Given the description of an element on the screen output the (x, y) to click on. 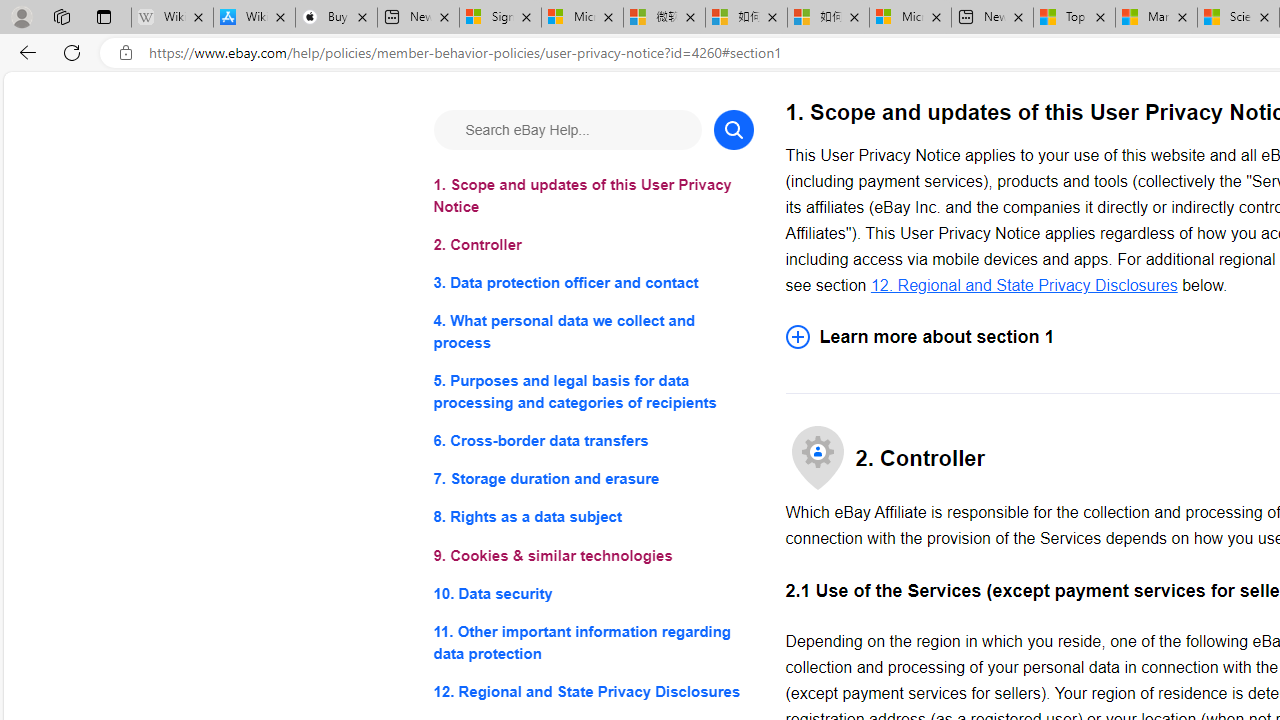
3. Data protection officer and contact (592, 283)
3. Data protection officer and contact (592, 283)
9. Cookies & similar technologies (592, 555)
1. Scope and updates of this User Privacy Notice (592, 196)
10. Data security (592, 592)
7. Storage duration and erasure (592, 479)
8. Rights as a data subject (592, 517)
10. Data security (592, 592)
